Given the description of an element on the screen output the (x, y) to click on. 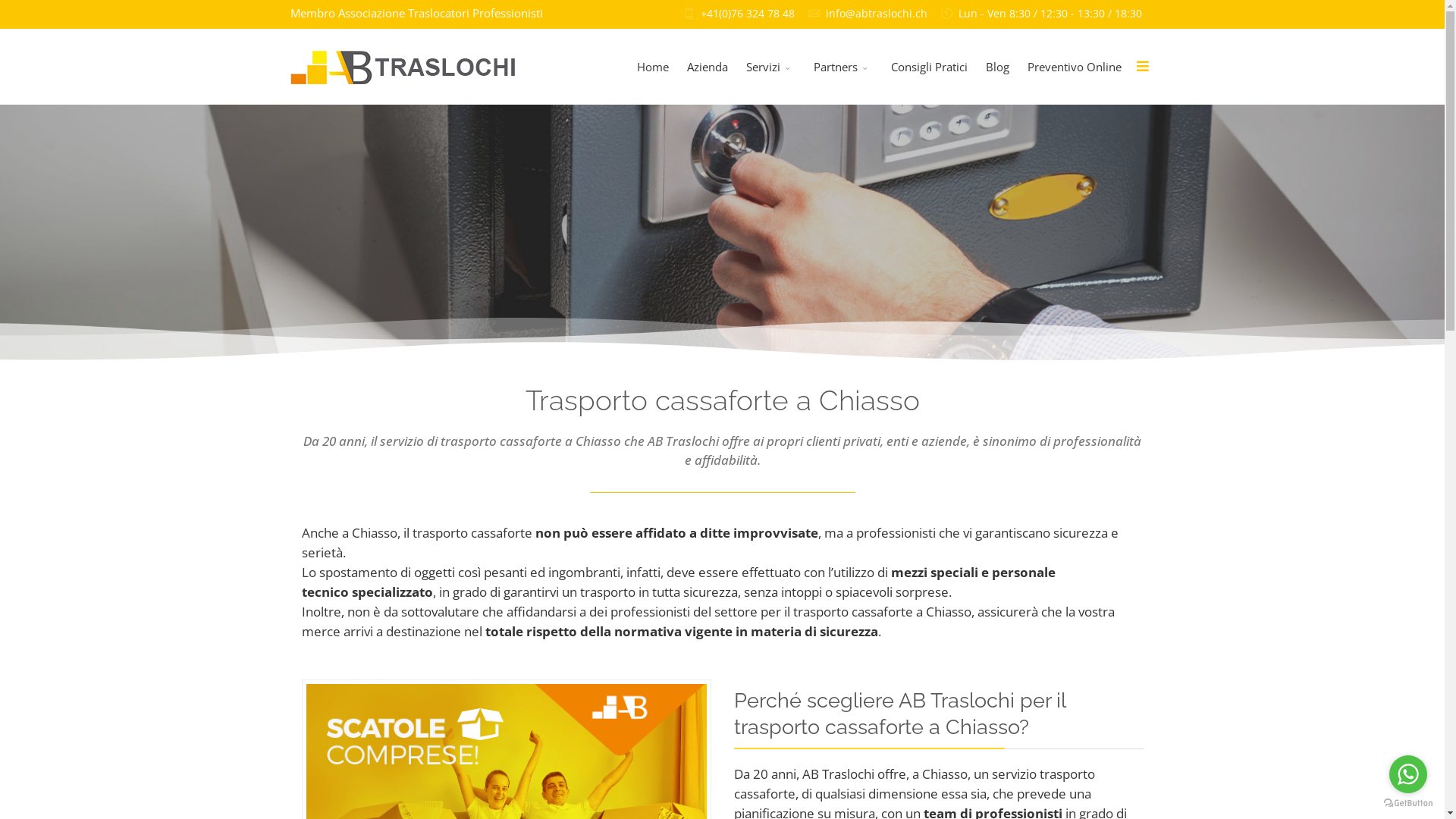
Blog Element type: text (997, 66)
Home Element type: text (652, 66)
Menu Element type: hover (1141, 65)
info@abtraslochi.ch Element type: text (875, 13)
Preventivo Online Element type: text (1073, 66)
+41(0)76 324 78 48 Element type: text (747, 13)
Servizi Element type: text (770, 66)
Partners Element type: text (842, 66)
Consigli Pratici Element type: text (928, 66)
Azienda Element type: text (707, 66)
